Given the description of an element on the screen output the (x, y) to click on. 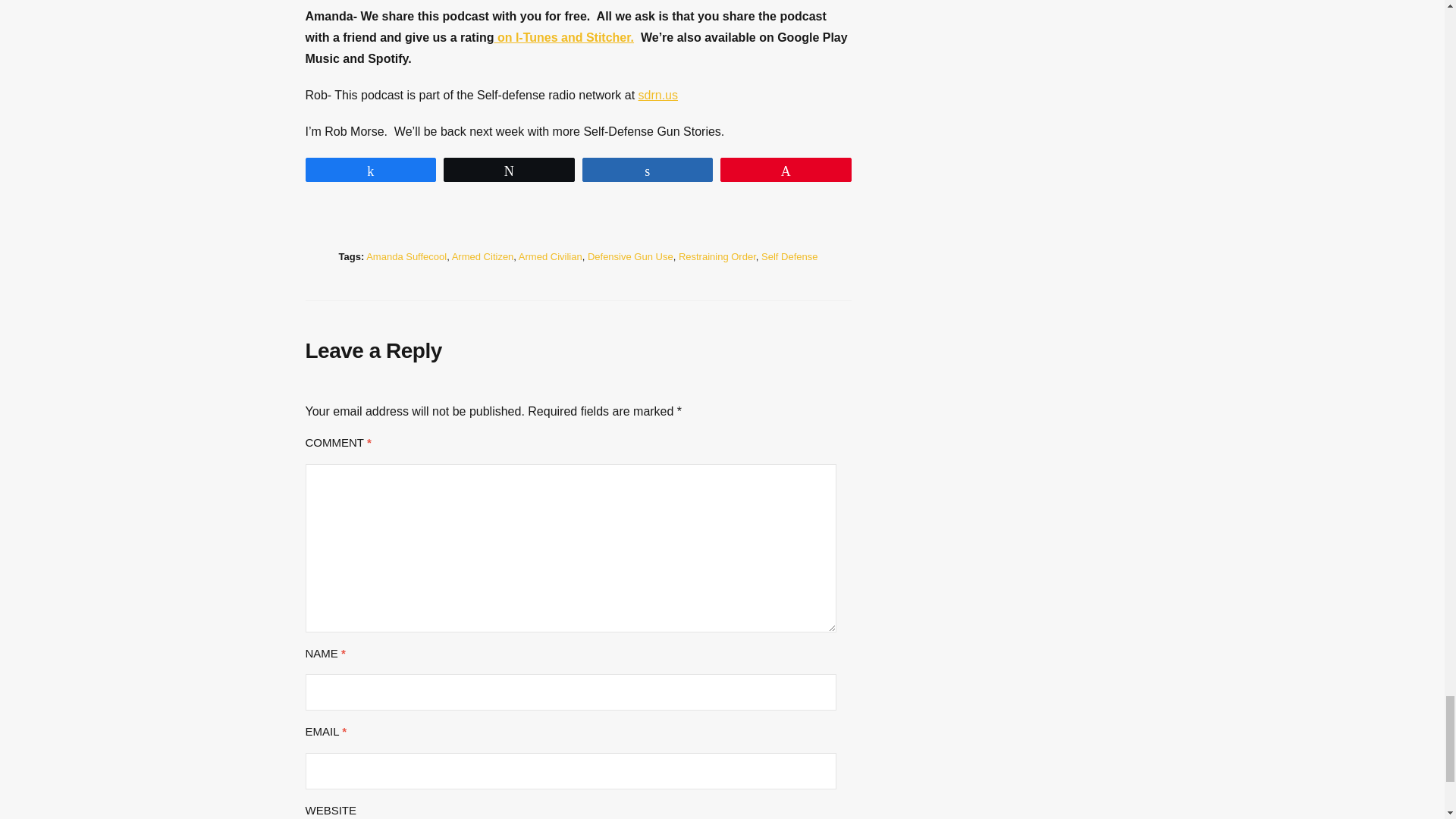
on I-Tunes and Stitcher. (563, 37)
Armed Civilian (550, 256)
Amanda Suffecool (406, 256)
Armed Citizen (482, 256)
sdrn.us (658, 94)
